Given the description of an element on the screen output the (x, y) to click on. 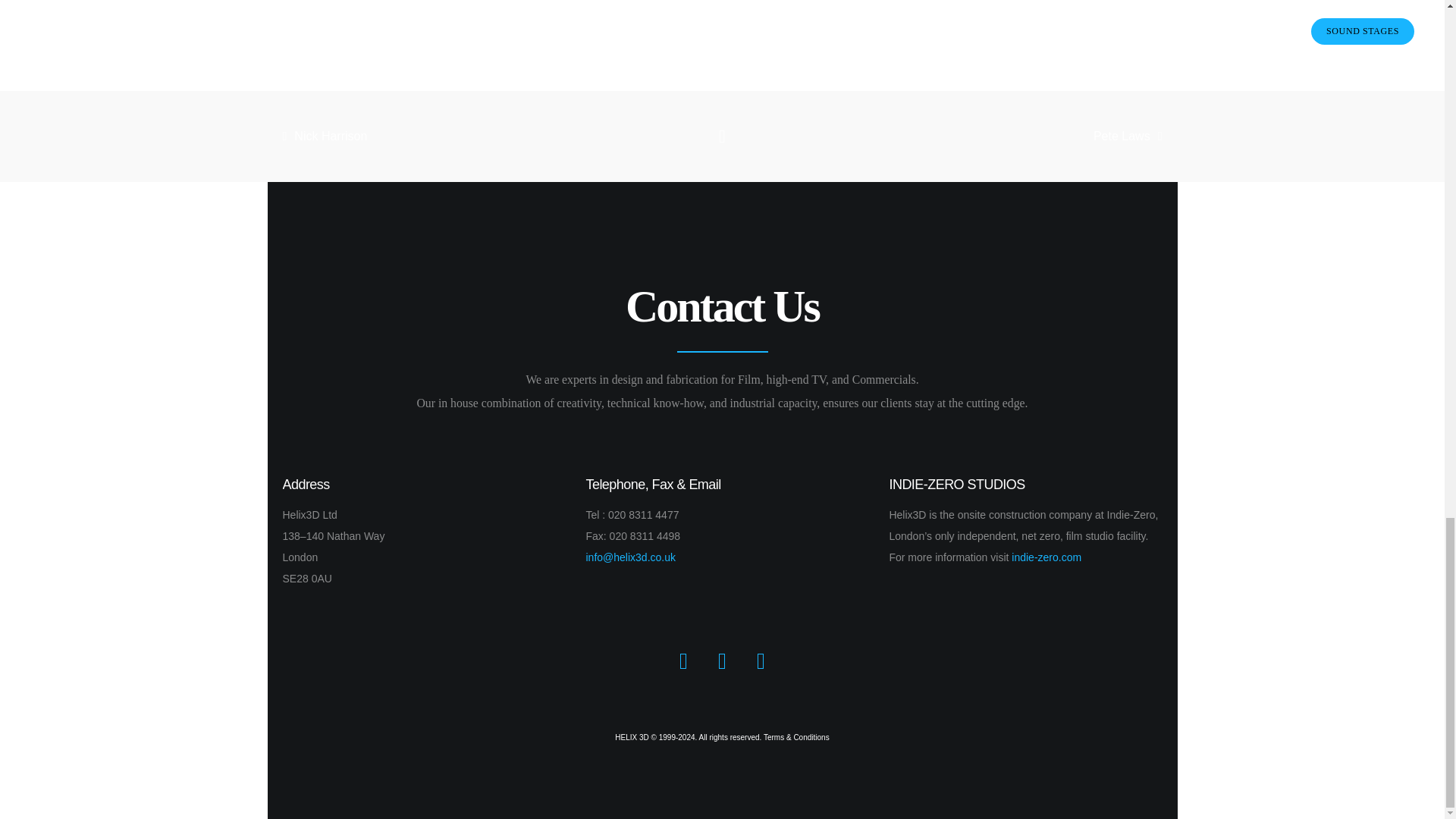
indie-zero.com (1046, 557)
Nick Harrison (423, 135)
Pete Laws (1020, 135)
